Given the description of an element on the screen output the (x, y) to click on. 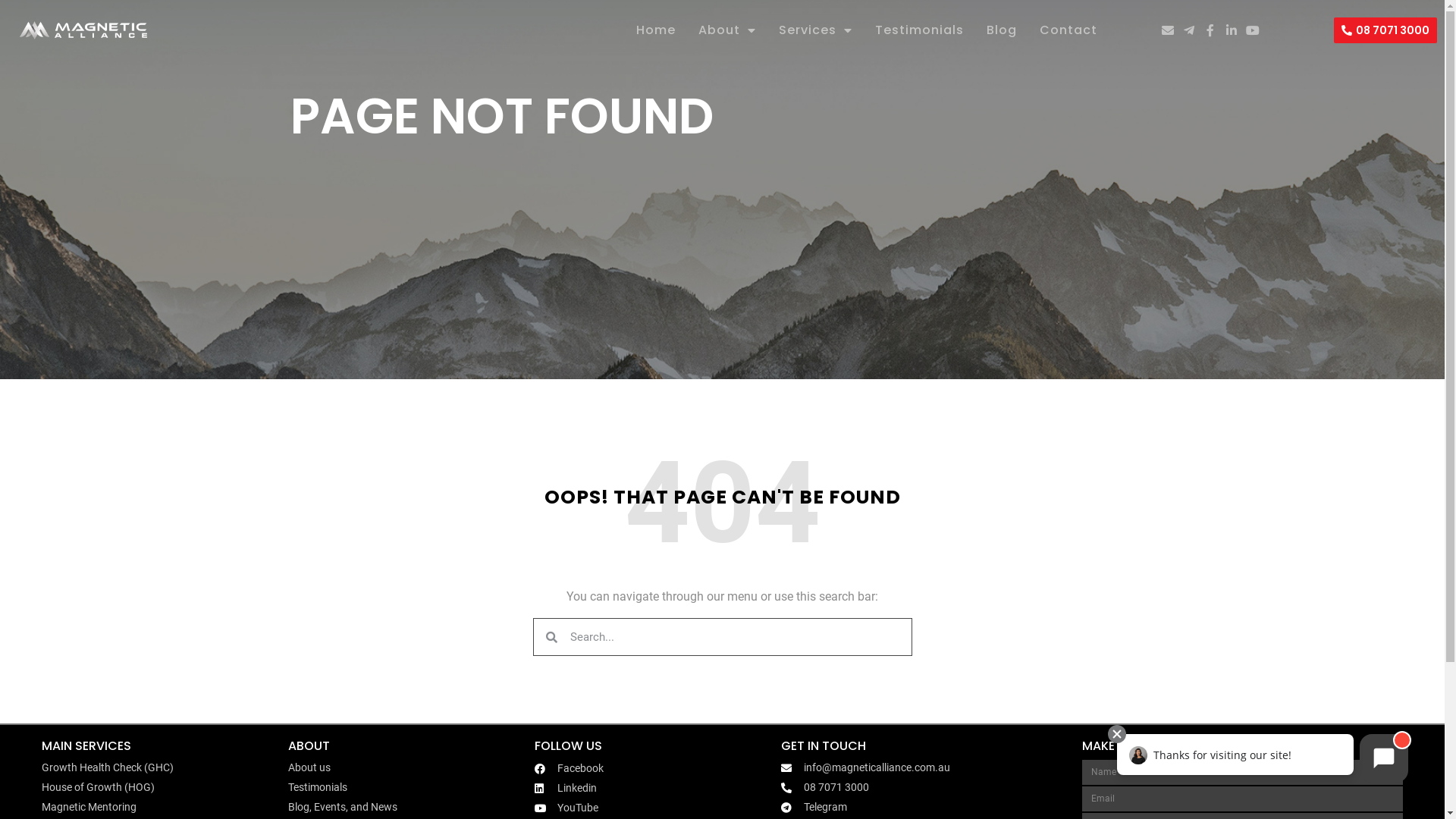
info@magneticalliance.com.au Element type: text (927, 767)
Blog Element type: text (1001, 29)
Growth Health Check (GHC) Element type: text (160, 767)
Magnetic Mentoring Element type: text (160, 807)
Facebook Element type: text (653, 768)
Contact Element type: text (1068, 29)
Blog, Events, and News Element type: text (407, 807)
08 7071 3000 Element type: text (1385, 30)
Linkedin Element type: text (653, 788)
About Element type: text (727, 29)
YouTube Element type: text (653, 807)
Telegram Element type: text (927, 807)
Testimonials Element type: text (407, 787)
Chatbot Element type: hover (1262, 759)
Testimonials Element type: text (919, 29)
08 7071 3000 Element type: text (927, 787)
Home Element type: text (655, 29)
About us Element type: text (407, 767)
Services Element type: text (815, 29)
House of Growth (HOG) Element type: text (160, 787)
